Given the description of an element on the screen output the (x, y) to click on. 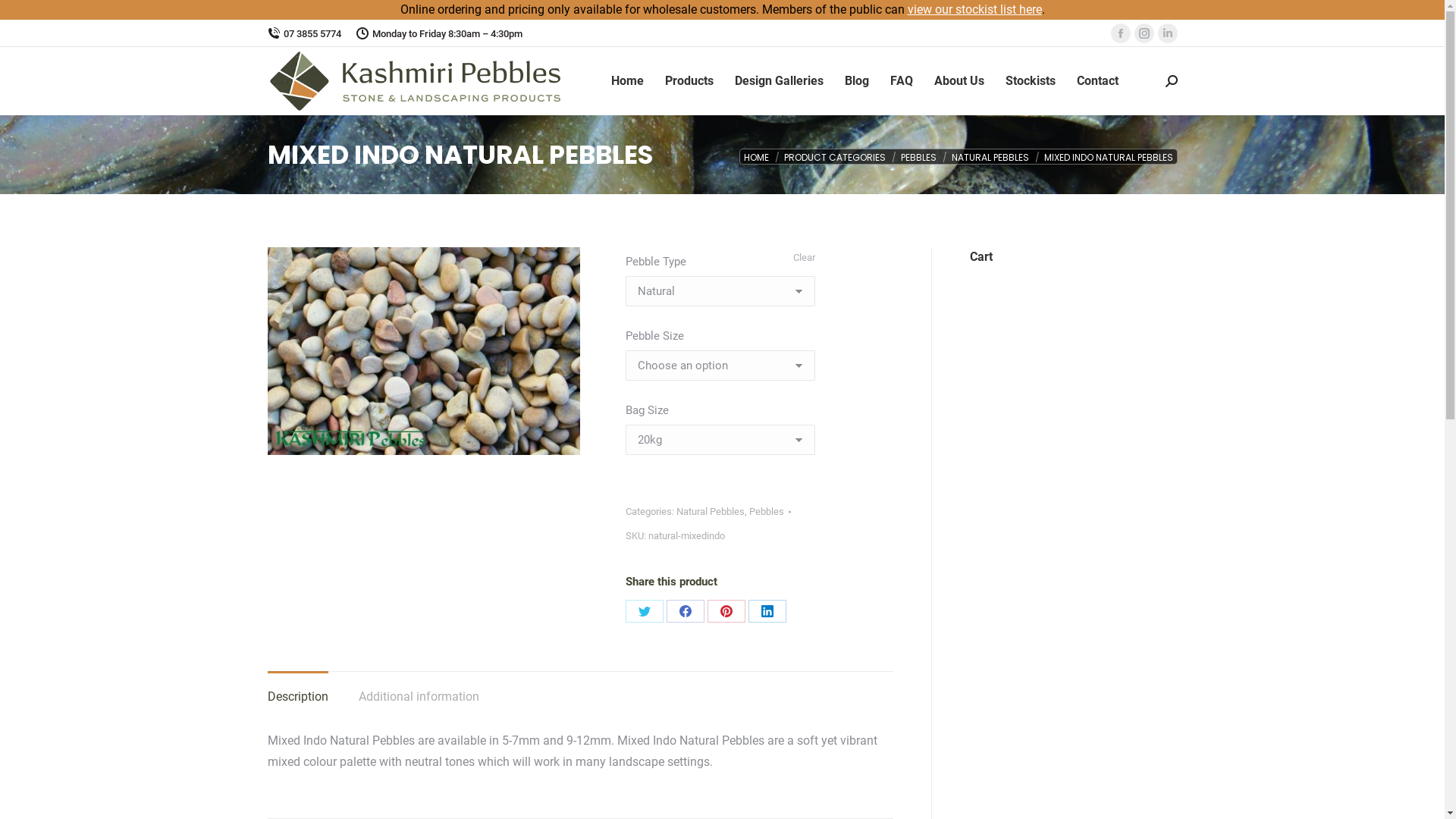
Share on Facebook Element type: text (685, 610)
Additional information Element type: text (417, 696)
NATURAL PEBBLES Element type: text (989, 156)
Natural Pebbles Element type: text (710, 511)
view our stockist list here Element type: text (973, 9)
Linkedin page opens in new window Element type: text (1166, 33)
Instagram page opens in new window Element type: text (1144, 33)
mixed-indo-natural Element type: hover (423, 351)
Clear Element type: text (804, 257)
Home Element type: text (627, 80)
About Us Element type: text (959, 80)
Description Element type: text (296, 696)
PEBBLES Element type: text (918, 156)
07 3855 5774 Element type: text (303, 32)
Design Galleries Element type: text (778, 80)
Share on Pinterest Element type: text (726, 610)
HOME Element type: text (755, 156)
Go! Element type: text (23, 16)
PRODUCT CATEGORIES Element type: text (834, 156)
Share on Twitter Element type: text (644, 610)
Contact Element type: text (1097, 80)
Share on LinkedIn Element type: text (767, 610)
Pebbles Element type: text (766, 511)
Blog Element type: text (856, 80)
Products Element type: text (688, 80)
Stockists Element type: text (1030, 80)
Facebook page opens in new window Element type: text (1119, 33)
FAQ Element type: text (901, 80)
